Given the description of an element on the screen output the (x, y) to click on. 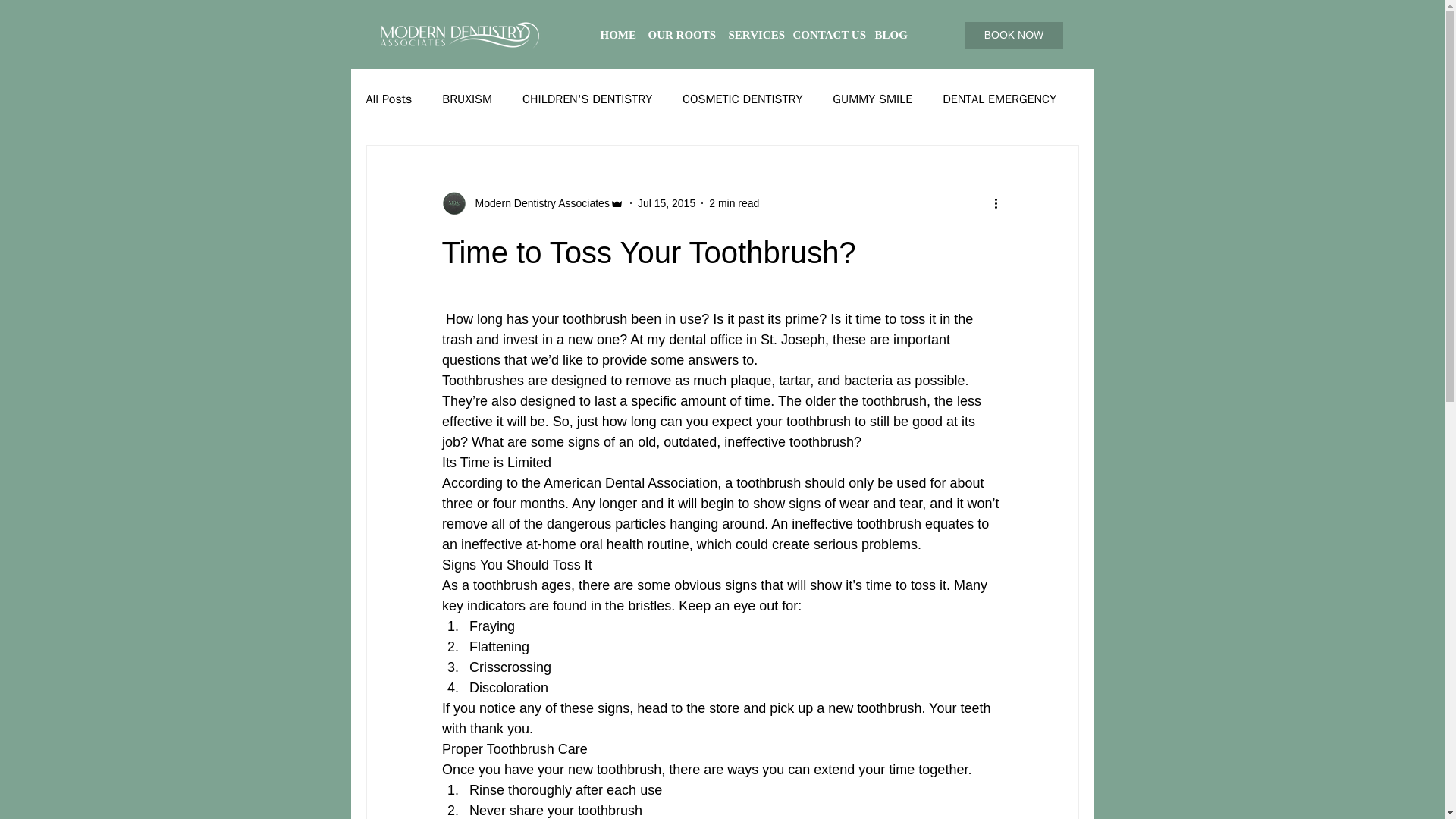
CHILDREN'S DENTISTRY (587, 98)
COSMETIC DENTISTRY (742, 98)
DENTAL EMERGENCY (999, 98)
2 min read (733, 203)
GUMMY SMILE (872, 98)
Jul 15, 2015 (666, 203)
SERVICES (752, 34)
Modern Dentistry Associates Horizontal-W (460, 35)
BOOK NOW (1012, 35)
CONTACT US (826, 34)
